Given the description of an element on the screen output the (x, y) to click on. 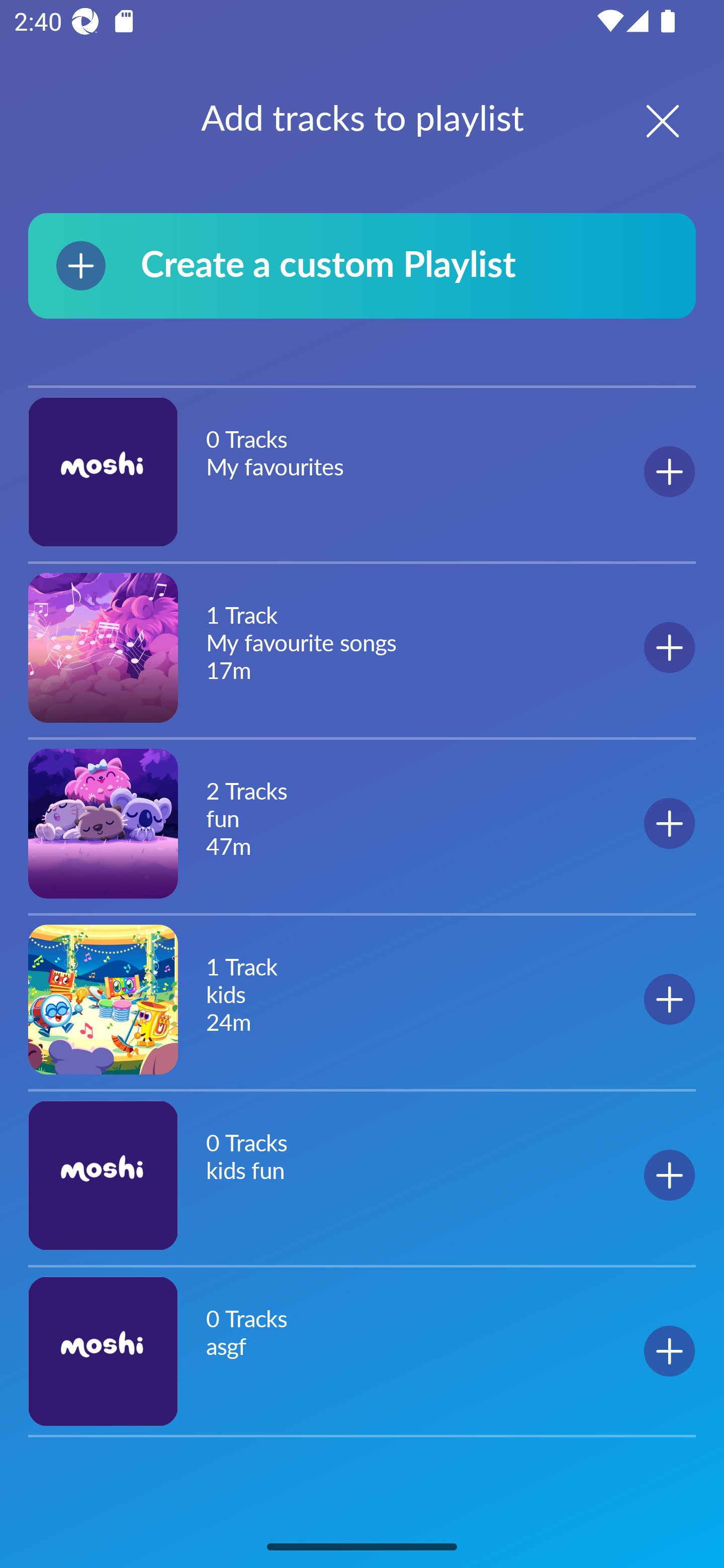
Close (645, 120)
Create a custom Playlist (361, 265)
0 Tracks My favourites (361, 471)
1 Track My favourite songs 17m (361, 647)
2 Tracks fun 47m (361, 823)
1 Track kids 24m (361, 998)
0 Tracks kids fun (361, 1174)
0 Tracks asgf (361, 1351)
